Given the description of an element on the screen output the (x, y) to click on. 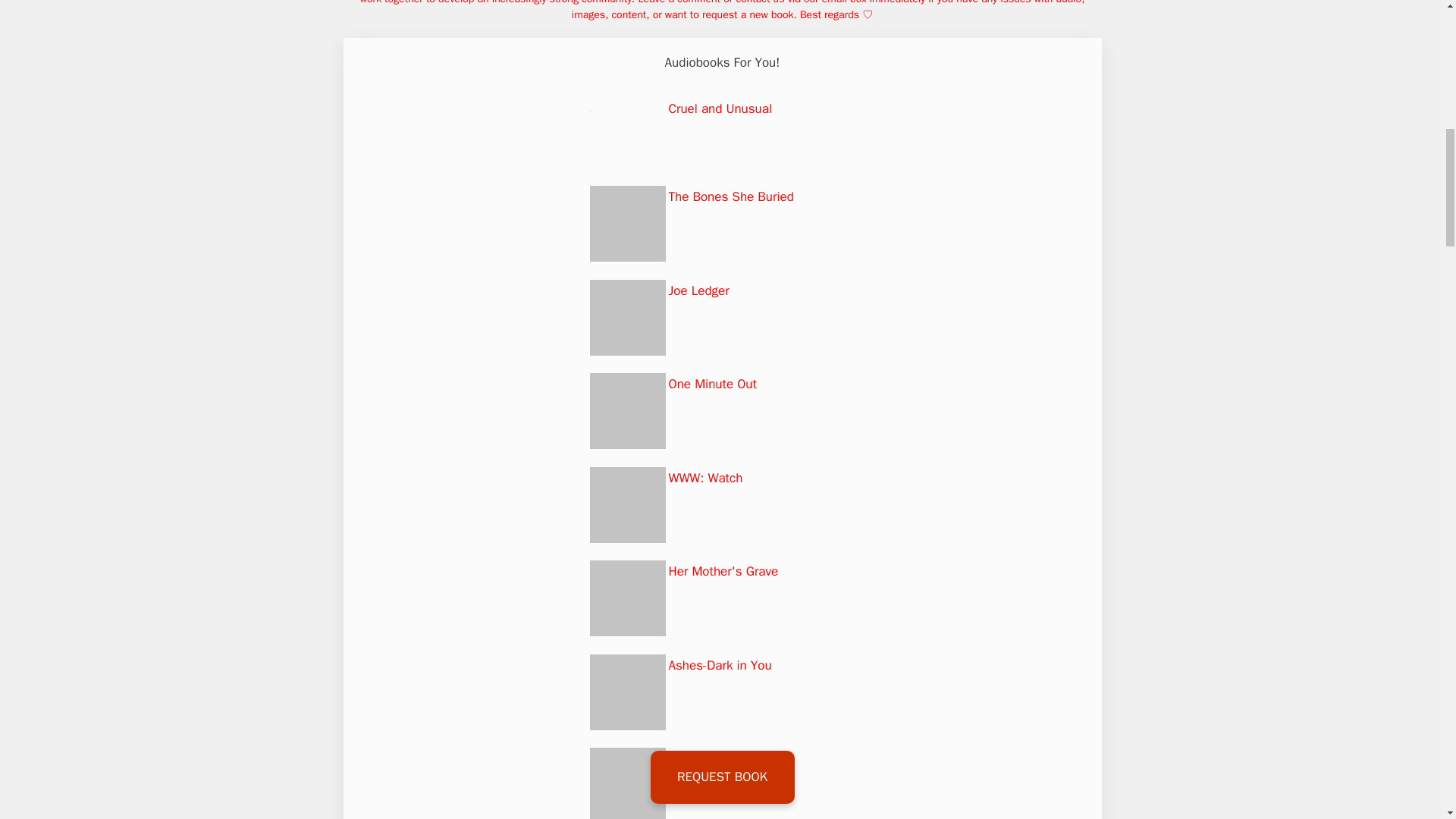
Joe Ledger (698, 290)
The Bones She Buried (730, 196)
Scroll back to top (1406, 720)
Cruel and Unusual (719, 108)
One Minute Out (712, 383)
